Given the description of an element on the screen output the (x, y) to click on. 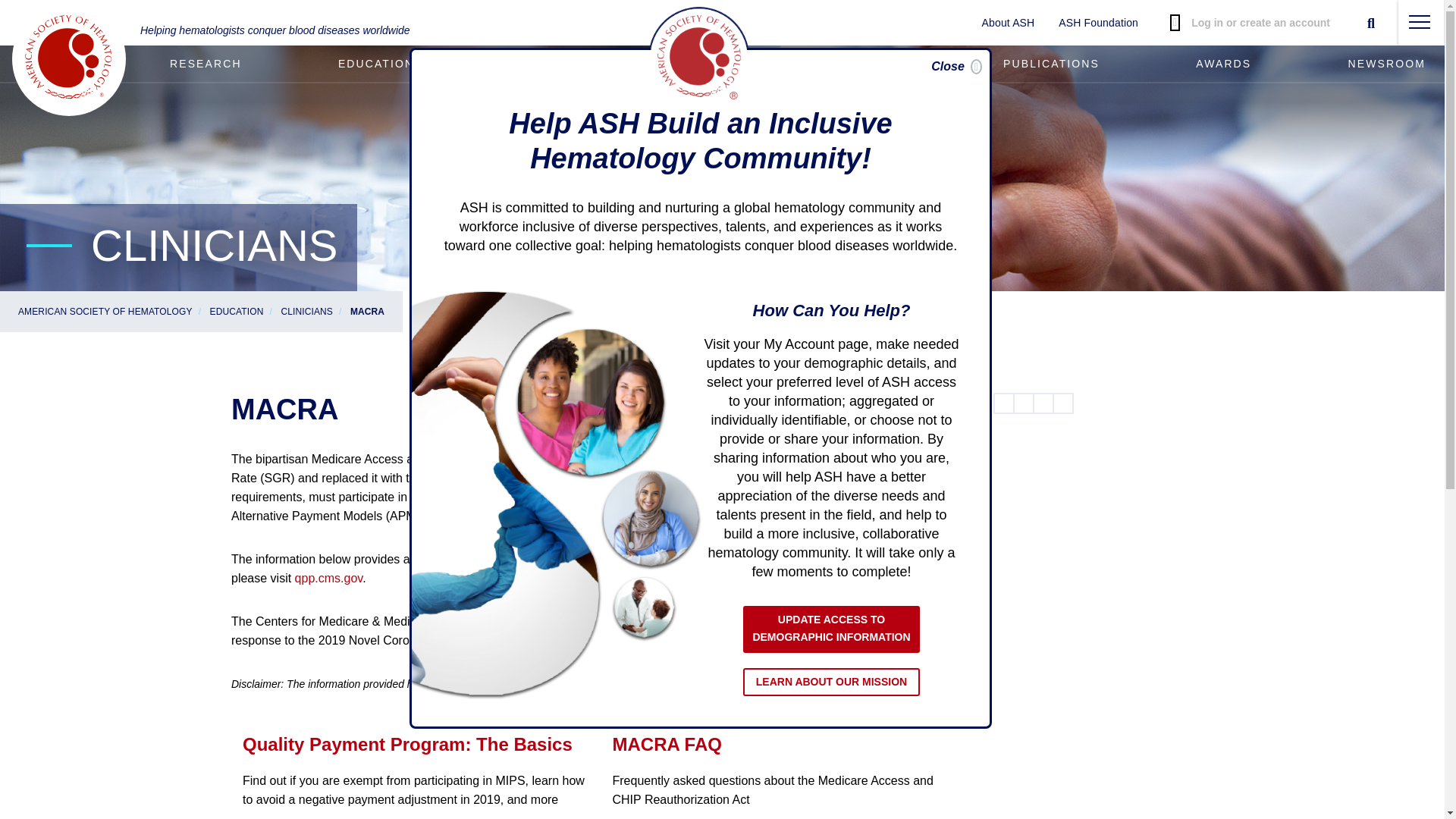
About ASH (1007, 22)
About ASH (1007, 22)
ADVOCACY (547, 63)
MEETINGS (872, 63)
CLINICIANS (307, 311)
Research (205, 63)
RESEARCH (205, 63)
EDUCATION (236, 311)
AMERICAN SOCIETY OF HEMATOLOGY (104, 311)
Log in or create an account (1250, 22)
ASH Foundation (1098, 22)
EDUCATION (375, 63)
CAREERS (710, 63)
AWARDS (1223, 63)
MACRA (367, 311)
